Given the description of an element on the screen output the (x, y) to click on. 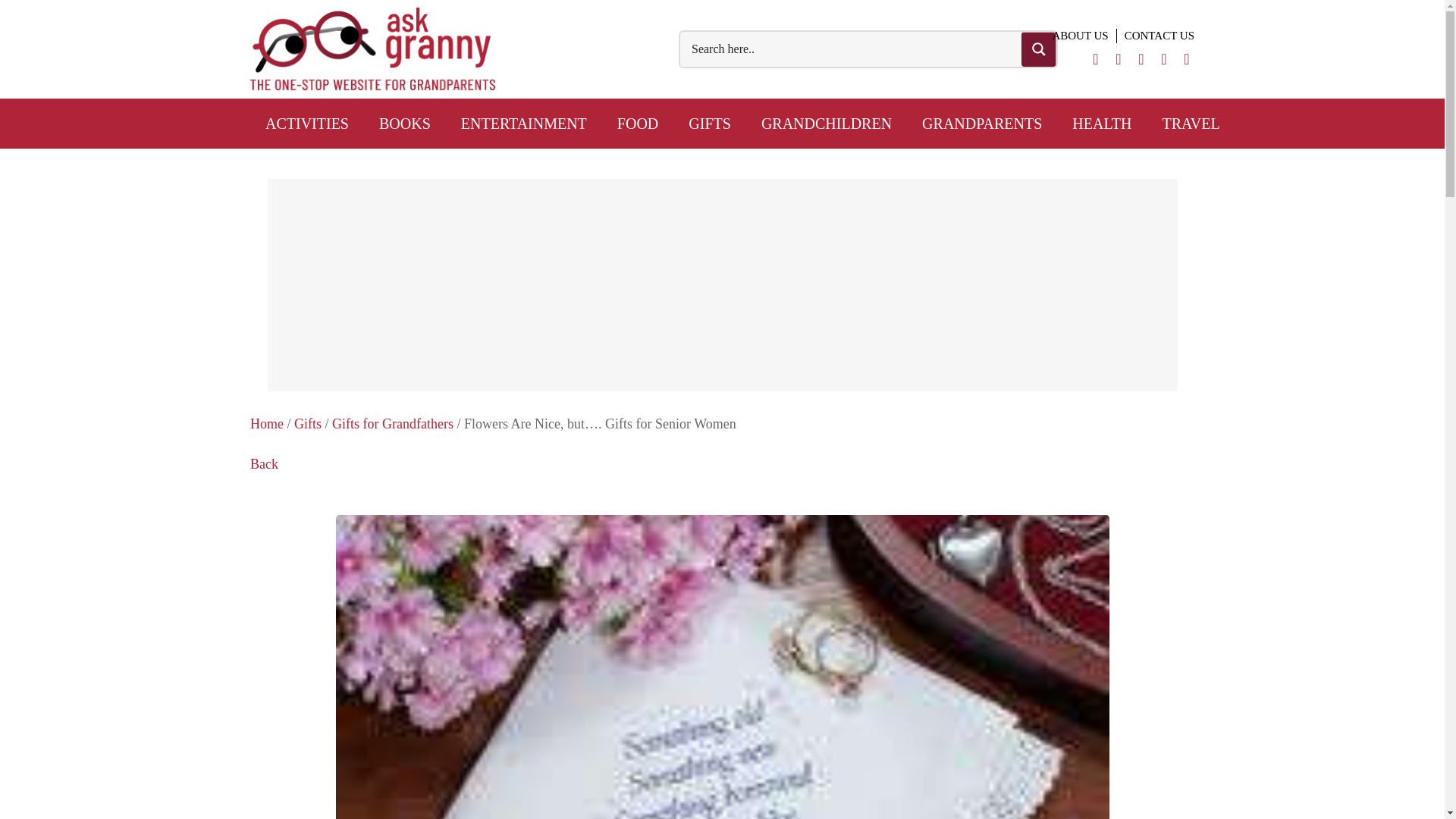
ENTERTAINMENT (523, 123)
FOOD (637, 123)
GIFTS (708, 123)
FACEBOOK (1117, 57)
ABOUT US (1079, 35)
BOOKS (404, 123)
TWITTER (1095, 57)
ACTIVITIES (307, 123)
CONTACT US (1154, 35)
